Given the description of an element on the screen output the (x, y) to click on. 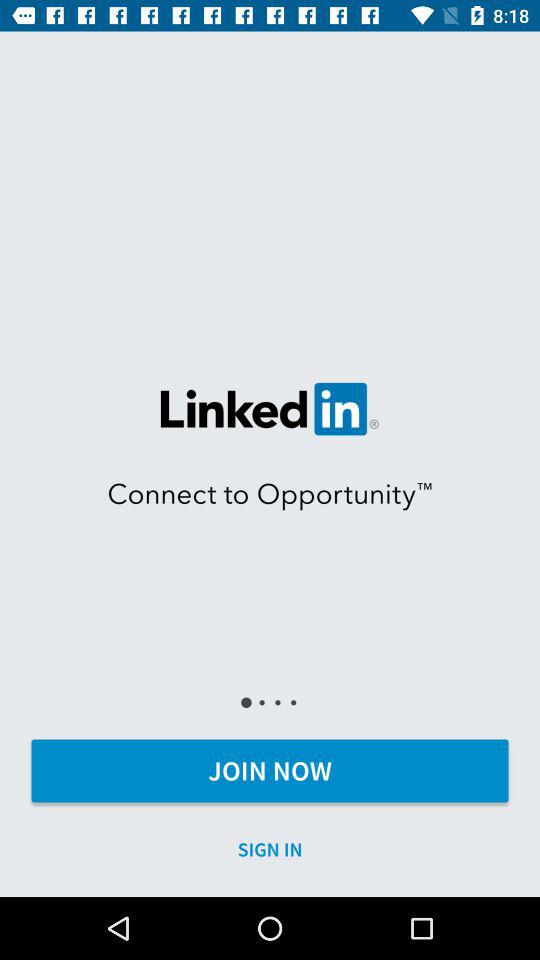
open icon below the join now (269, 849)
